Given the description of an element on the screen output the (x, y) to click on. 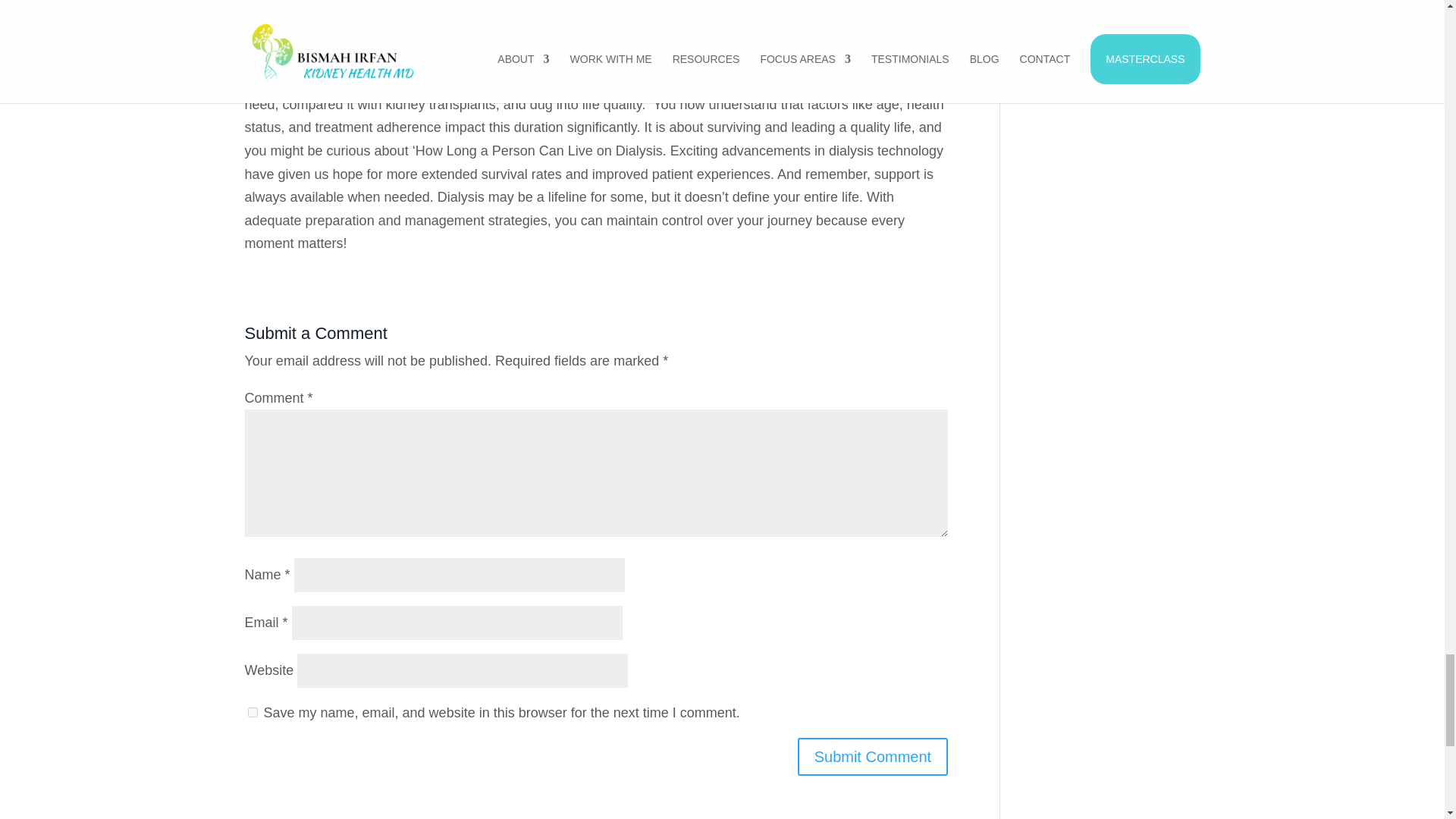
Submit Comment (873, 756)
yes (252, 712)
